Given the description of an element on the screen output the (x, y) to click on. 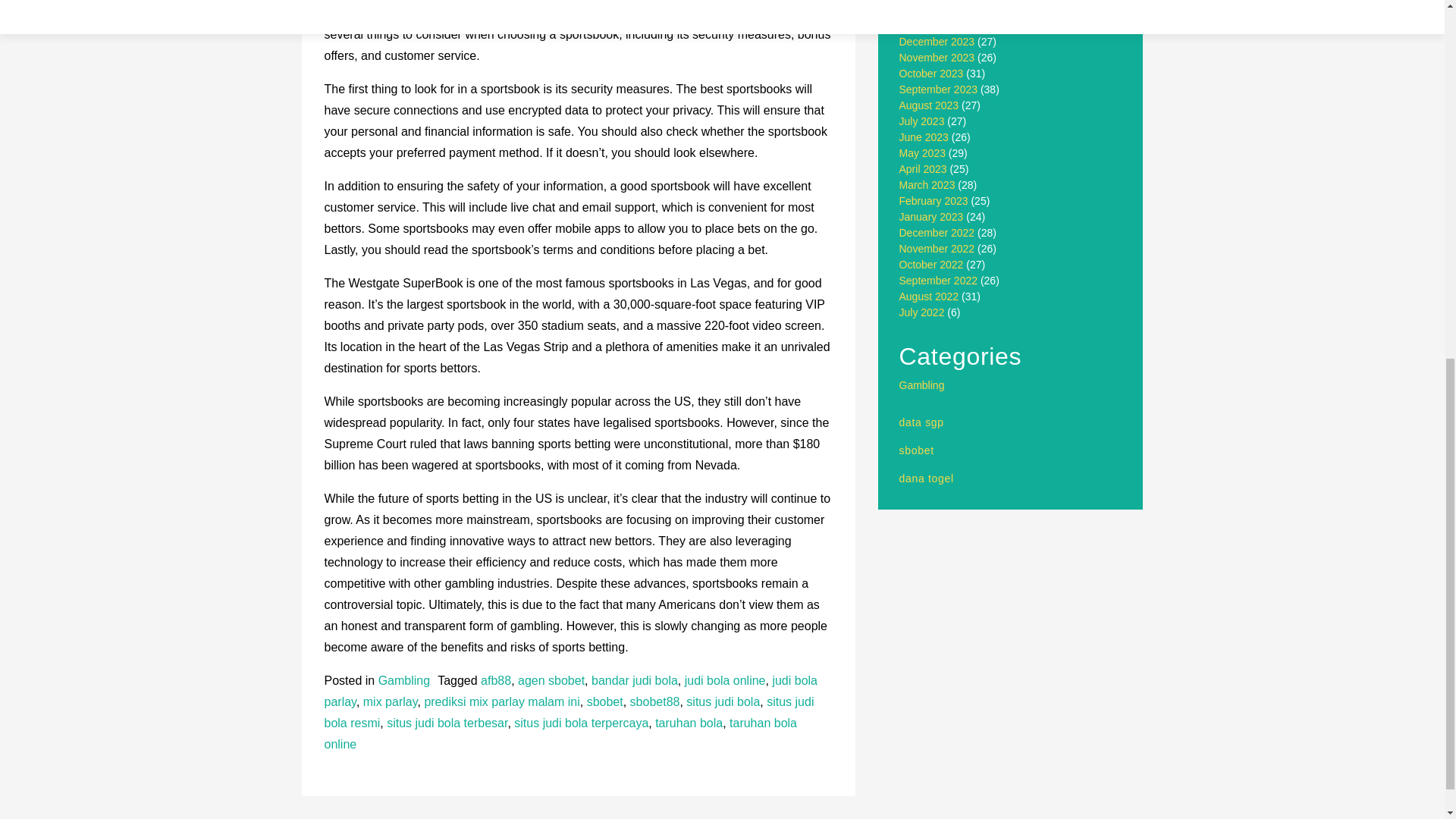
November 2023 (937, 57)
sbobet88 (654, 701)
December 2023 (937, 41)
September 2023 (938, 89)
January 2024 (931, 25)
prediksi mix parlay malam ini (501, 701)
mix parlay (389, 701)
situs judi bola terbesar (446, 722)
taruhan bola (688, 722)
sbobet (604, 701)
August 2023 (929, 105)
judi bola online (724, 680)
situs judi bola terpercaya (580, 722)
afb88 (495, 680)
judi bola parlay (571, 691)
